Given the description of an element on the screen output the (x, y) to click on. 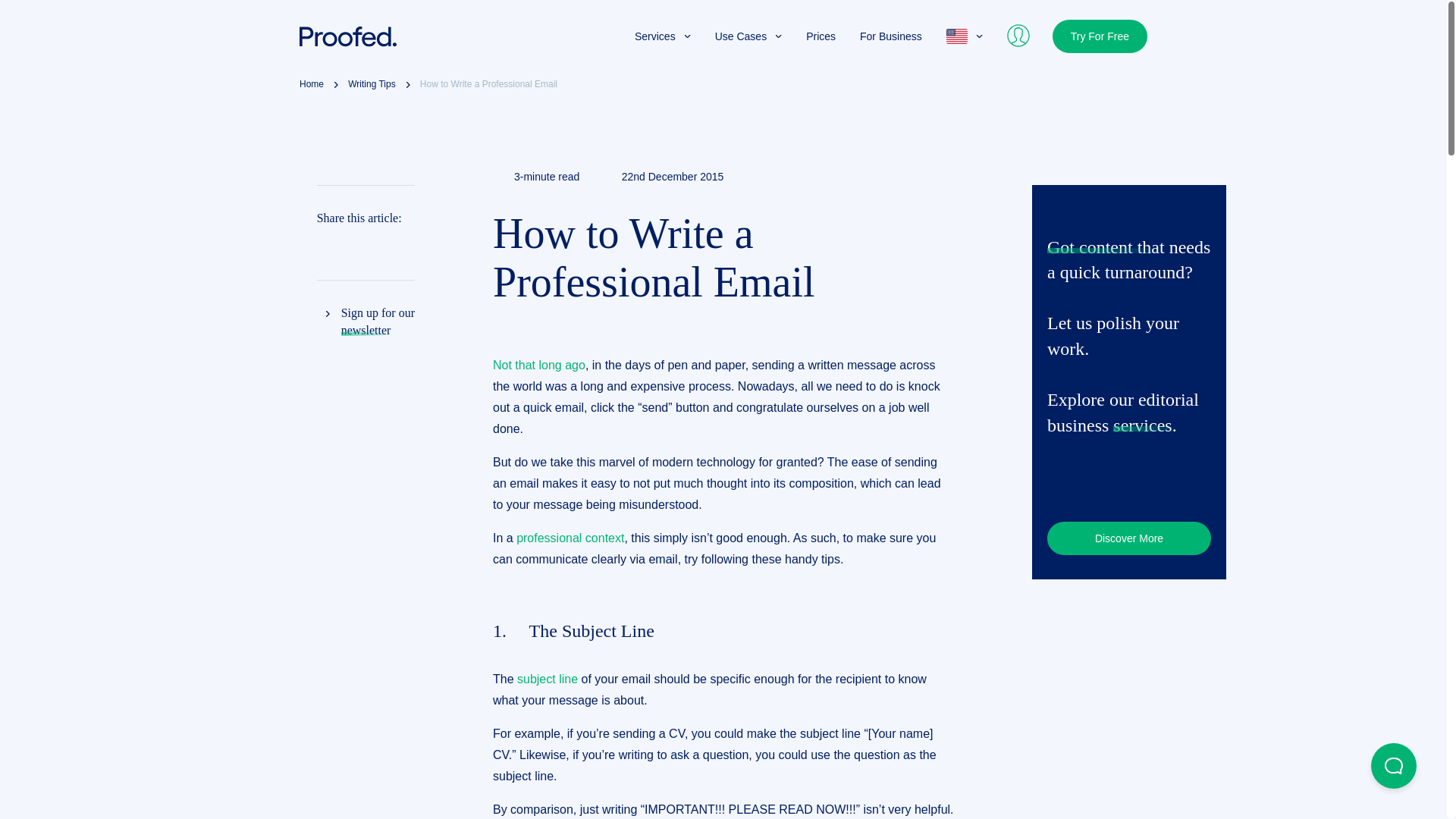
For Business (890, 36)
Proofed Logo (347, 35)
Discover More (1128, 538)
Try For Free (1099, 36)
Link to facebook (324, 247)
Home (311, 84)
subject line (547, 678)
Link to linkedin (354, 247)
Writing Tips (370, 84)
professional context (570, 537)
